Given the description of an element on the screen output the (x, y) to click on. 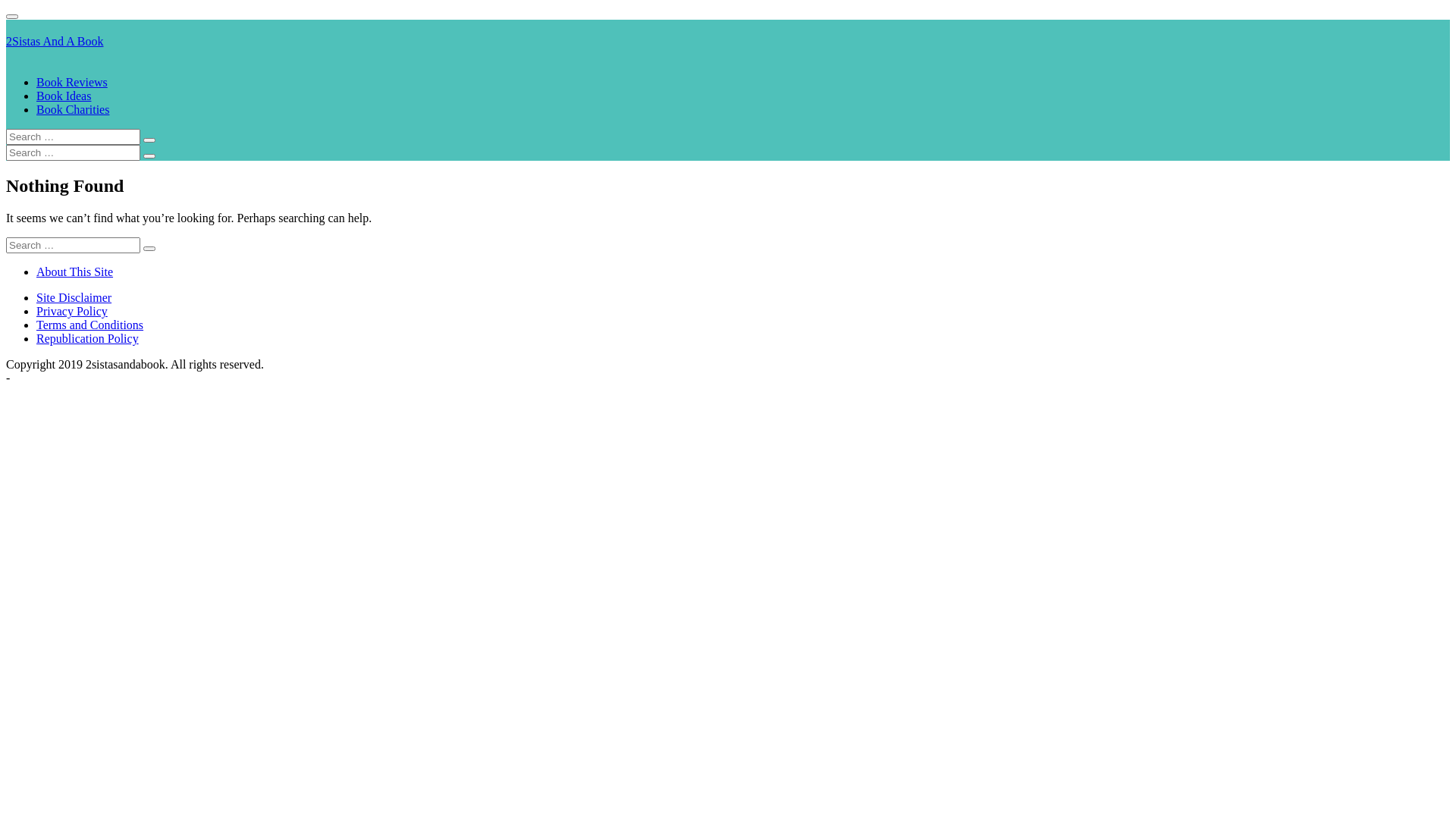
Book Reviews Element type: text (71, 81)
Go to top Element type: hover (12, 16)
Republication Policy Element type: text (87, 338)
Skip to content Element type: text (17, 5)
About This Site Element type: text (74, 271)
Book Ideas Element type: text (63, 95)
Search Element type: text (149, 140)
Book Charities Element type: text (72, 109)
2Sistas And A Book Element type: text (54, 40)
Site Disclaimer Element type: text (73, 297)
Terms and Conditions Element type: text (89, 324)
Search Element type: text (149, 155)
Privacy Policy Element type: text (71, 310)
Search Element type: text (149, 248)
